Given the description of an element on the screen output the (x, y) to click on. 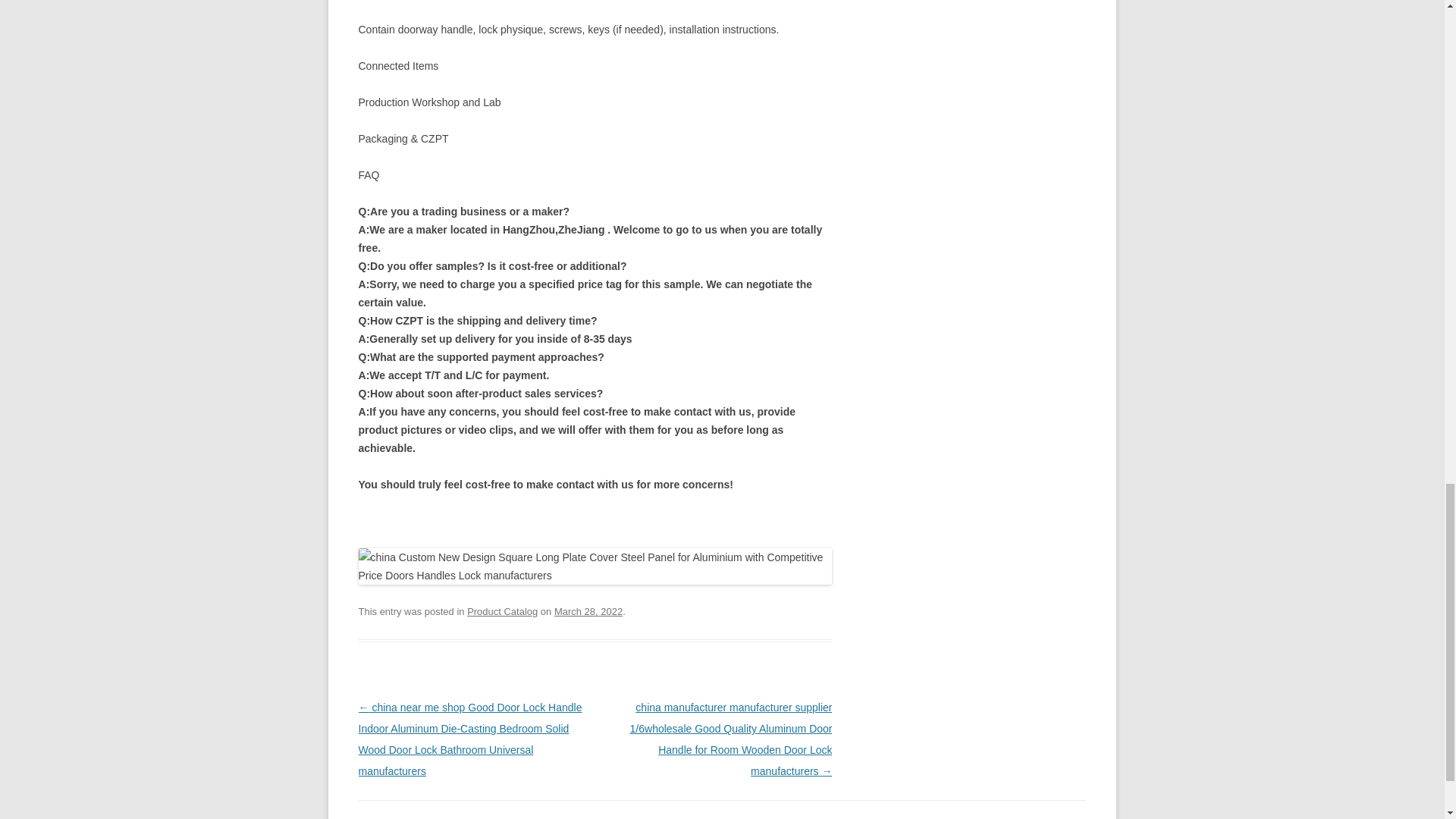
March 28, 2022 (588, 611)
Product Catalog (502, 611)
5:15 pm (588, 611)
